Given the description of an element on the screen output the (x, y) to click on. 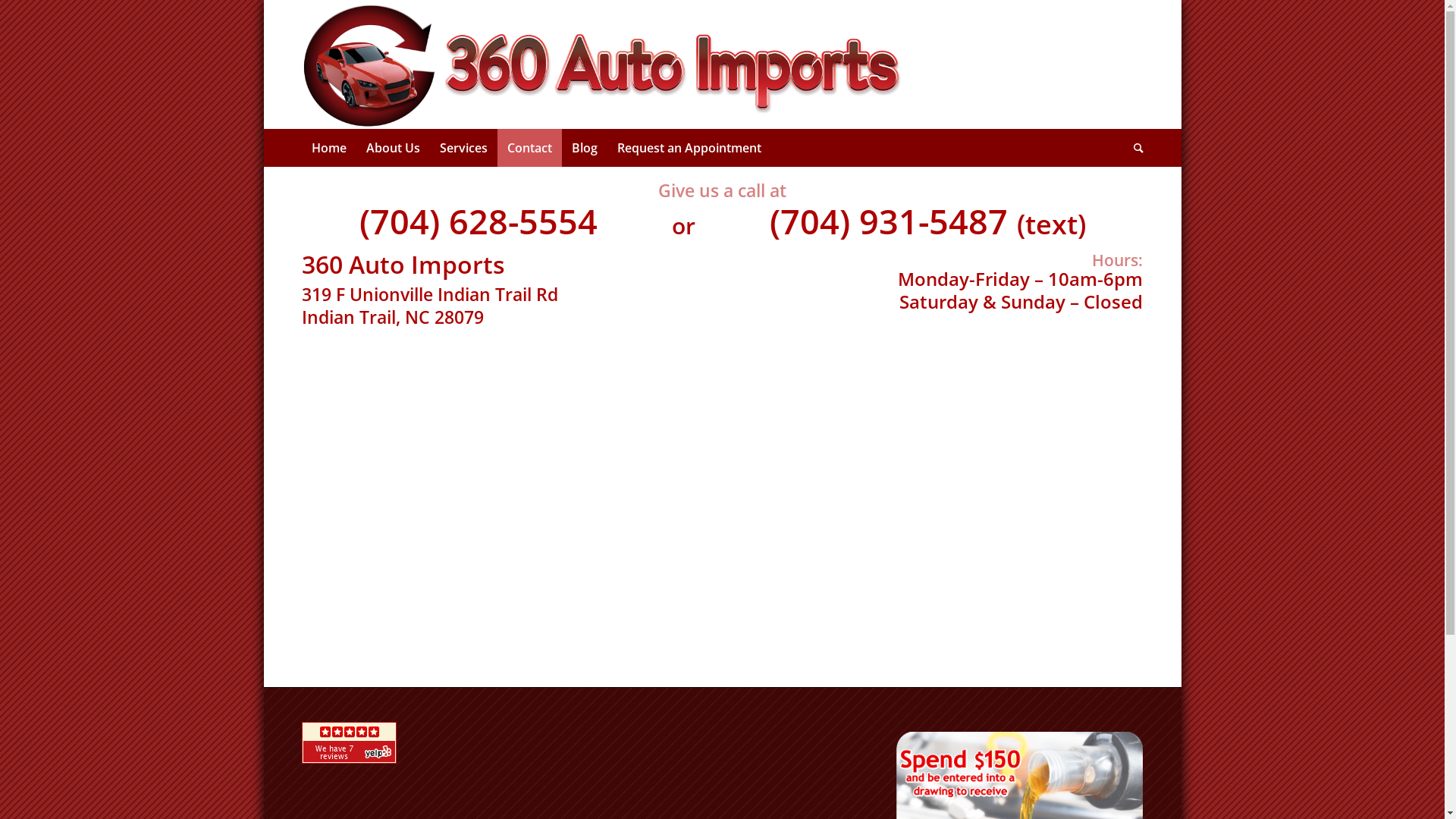
Home Element type: text (328, 147)
Request an Appointment Element type: text (688, 147)
About Us Element type: text (392, 147)
Blog Element type: text (583, 147)
Contact Element type: text (529, 147)
Services Element type: text (462, 147)
